Given the description of an element on the screen output the (x, y) to click on. 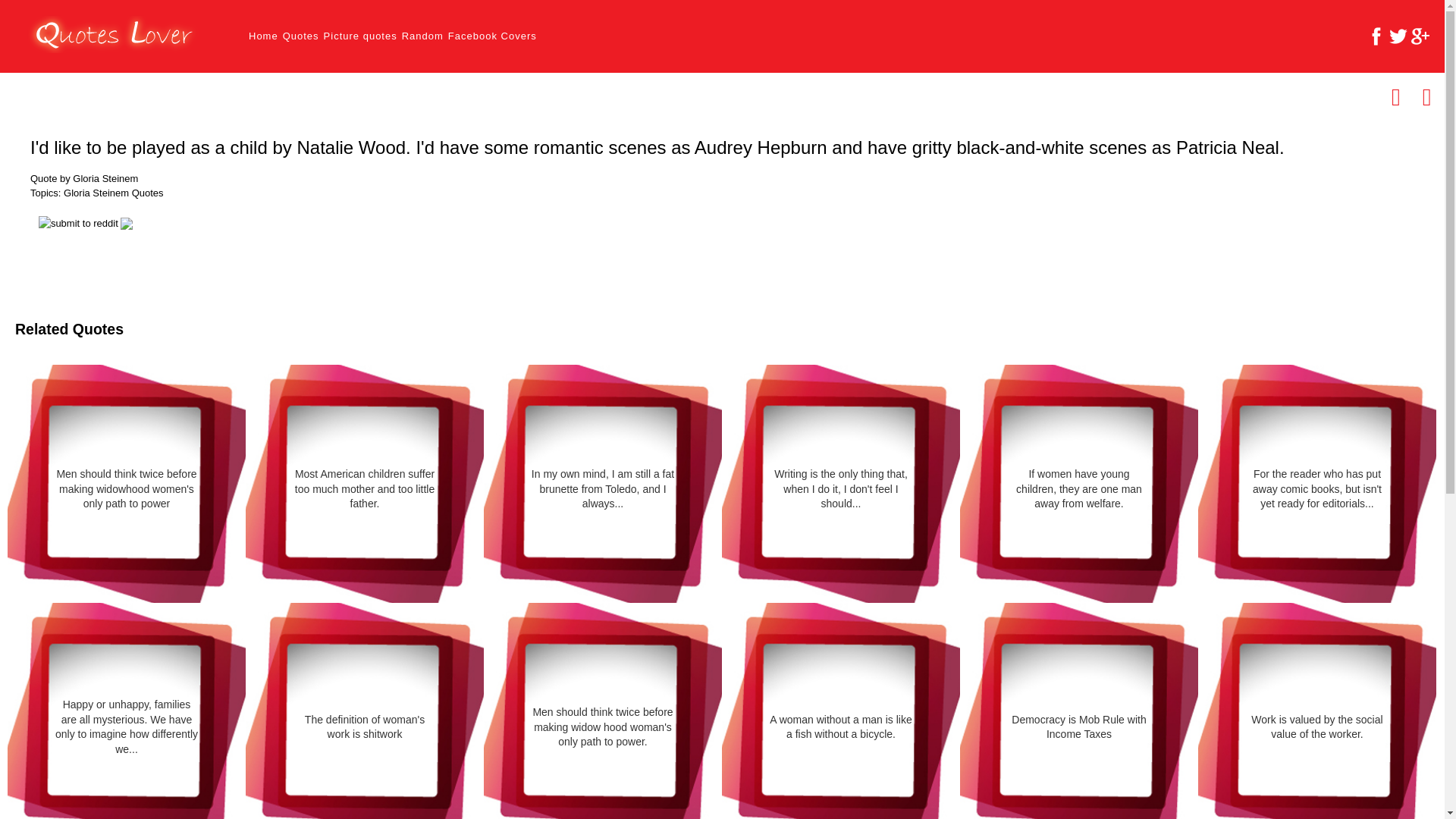
Gloria Steinem Quotes (113, 193)
A woman without a man is like a fish without a bicycle. (841, 727)
The definition of woman's work is shitwork (364, 727)
Google Plus (1419, 36)
Quote by Gloria Steinem (84, 178)
Quote by Gloria Steinem (84, 178)
Quotes (300, 37)
Random (422, 37)
Facebook (1376, 36)
Picture quotes (360, 37)
